Given the description of an element on the screen output the (x, y) to click on. 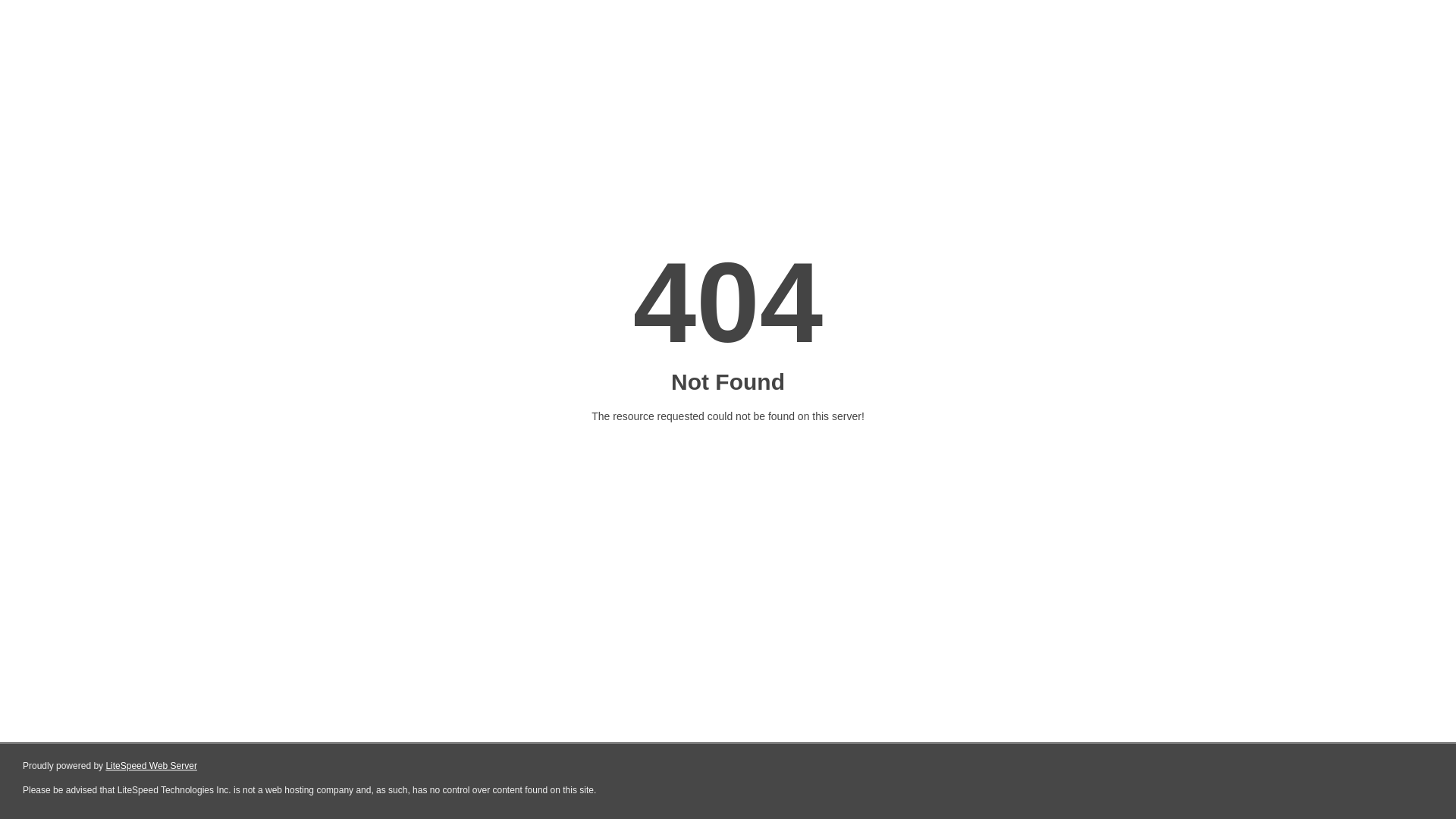
LiteSpeed Web Server Element type: text (151, 765)
